Given the description of an element on the screen output the (x, y) to click on. 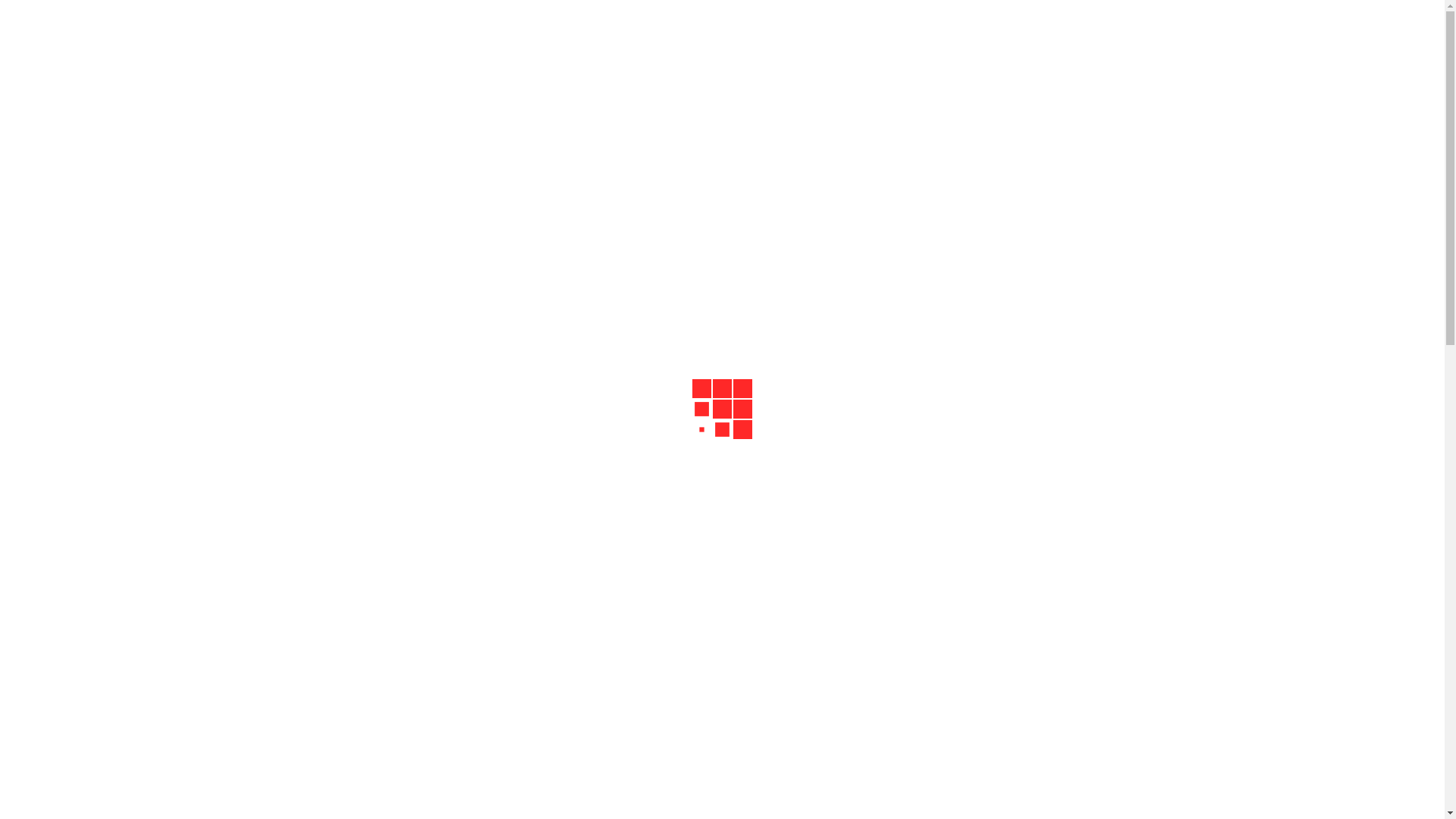
Search Element type: text (437, 795)
+375 44 757-21-50 Element type: text (722, 114)
+375 29 507-21-50 Element type: text (722, 159)
